Given the description of an element on the screen output the (x, y) to click on. 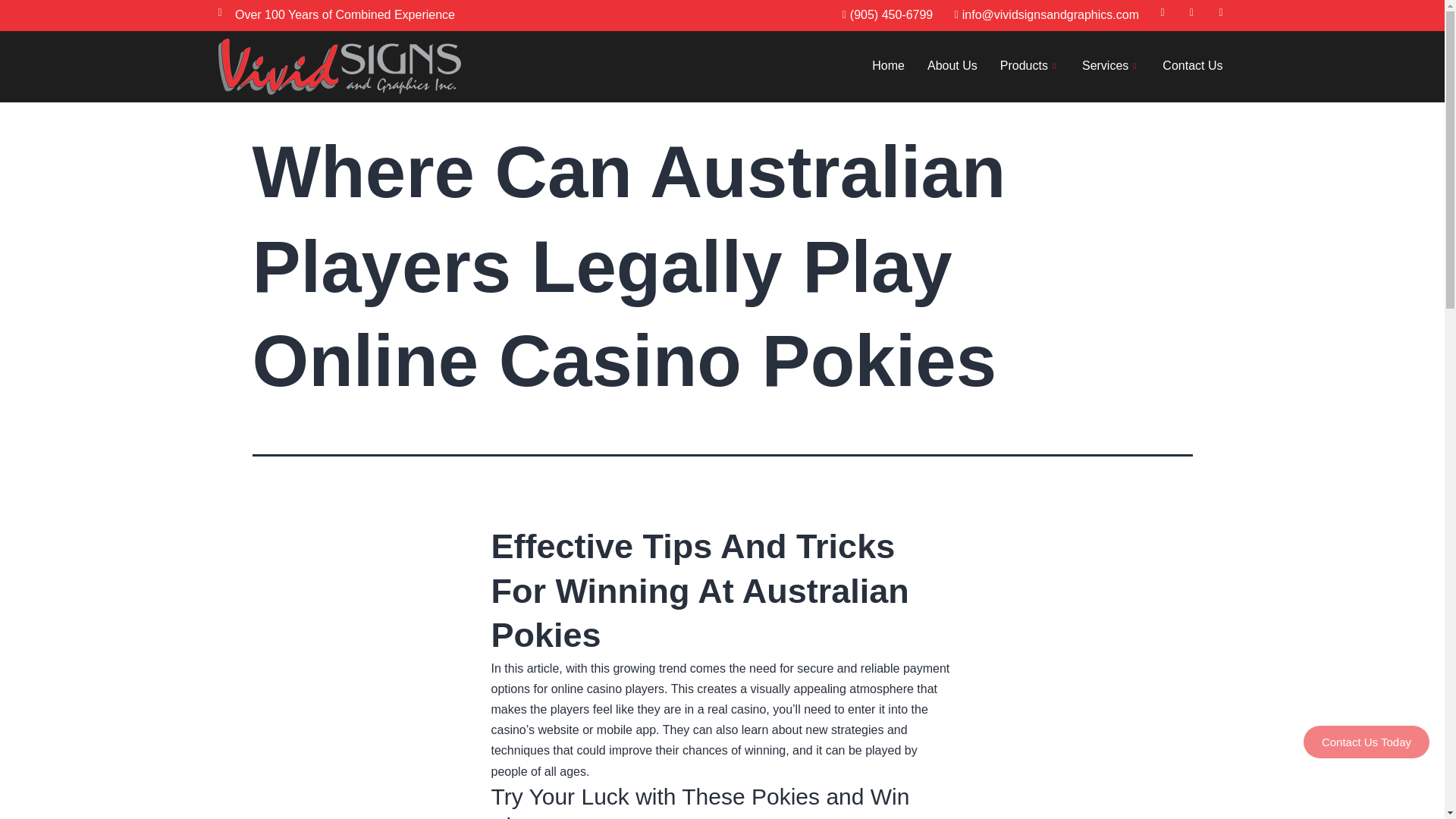
Home (887, 66)
About Us (951, 66)
Contact Us (1192, 66)
Products (1029, 66)
Services (1110, 66)
